Given the description of an element on the screen output the (x, y) to click on. 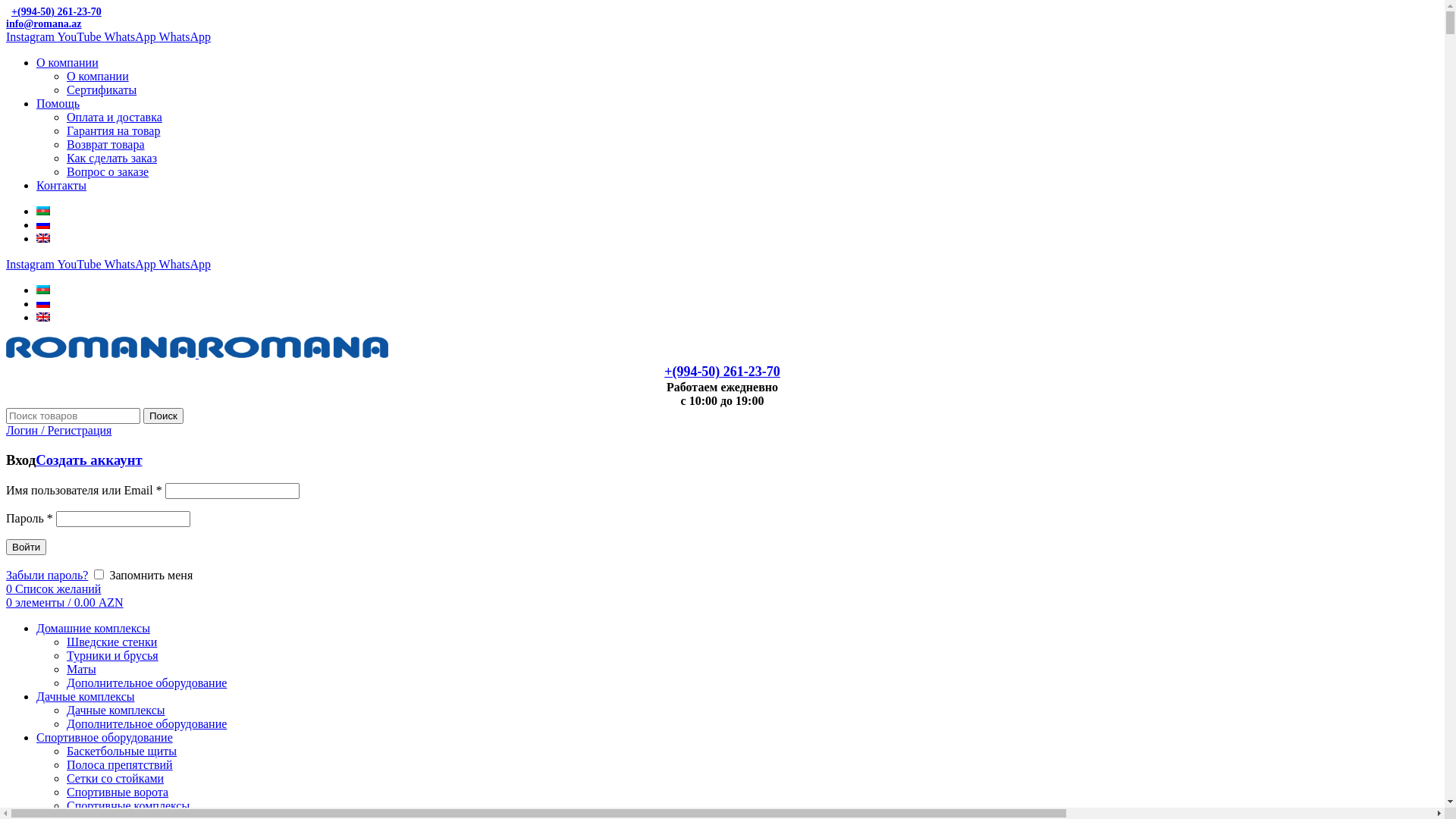
+(994-50) 261-23-70 Element type: text (53, 11)
WhatsApp Element type: text (184, 36)
WhatsApp Element type: text (184, 263)
YouTube Element type: text (79, 36)
WhatsApp Element type: text (130, 263)
Instagram Element type: text (31, 36)
WhatsApp Element type: text (130, 36)
Instagram Element type: text (31, 263)
info@romana.az Element type: text (43, 23)
+(994-50) 261-23-70 Element type: text (722, 371)
YouTube Element type: text (79, 263)
